Given the description of an element on the screen output the (x, y) to click on. 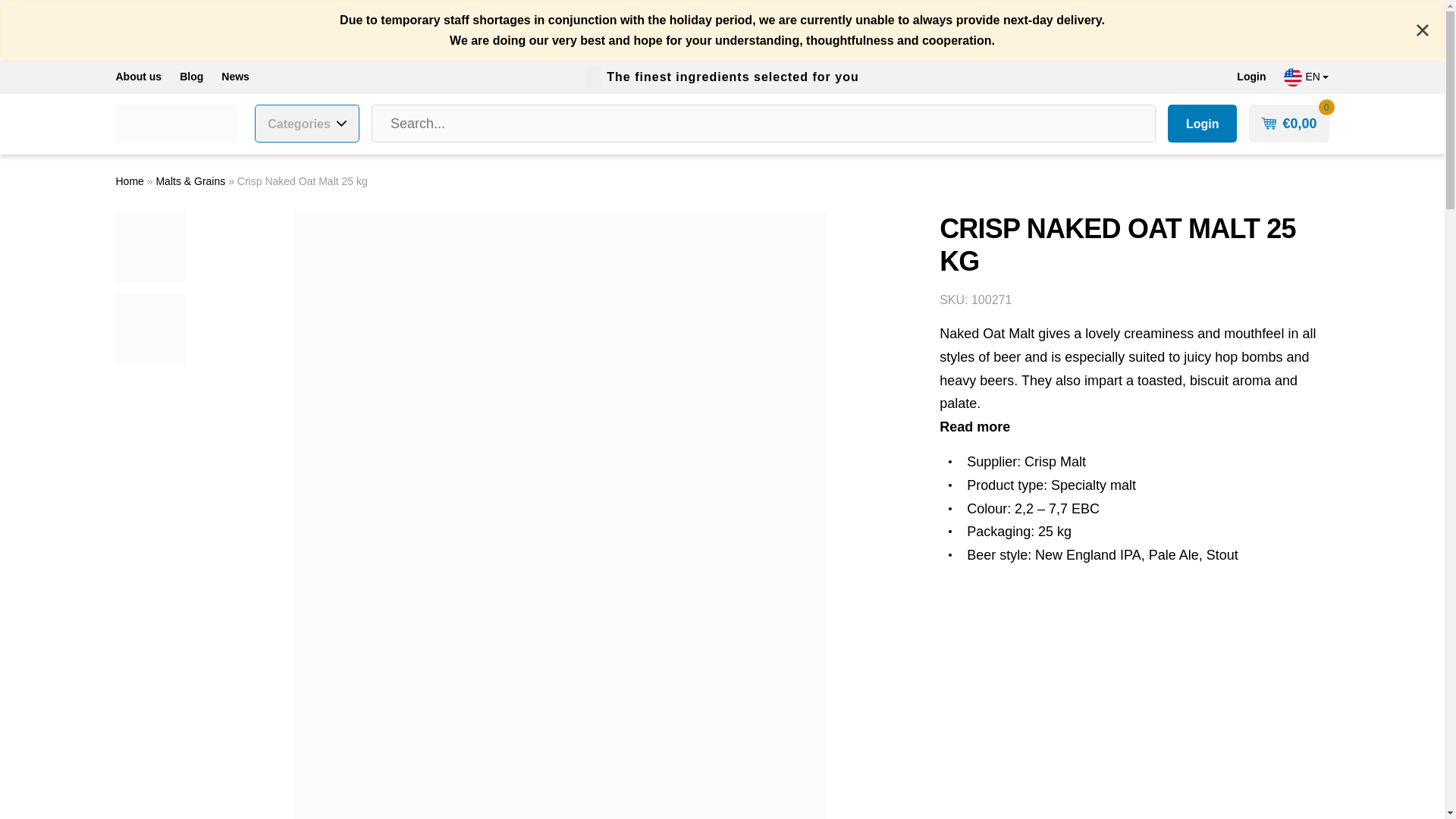
Blog (191, 76)
Login (1251, 76)
Login (1202, 123)
News (235, 76)
About us (138, 76)
News (235, 76)
About us (138, 76)
Categories (306, 123)
Blog (191, 76)
